Given the description of an element on the screen output the (x, y) to click on. 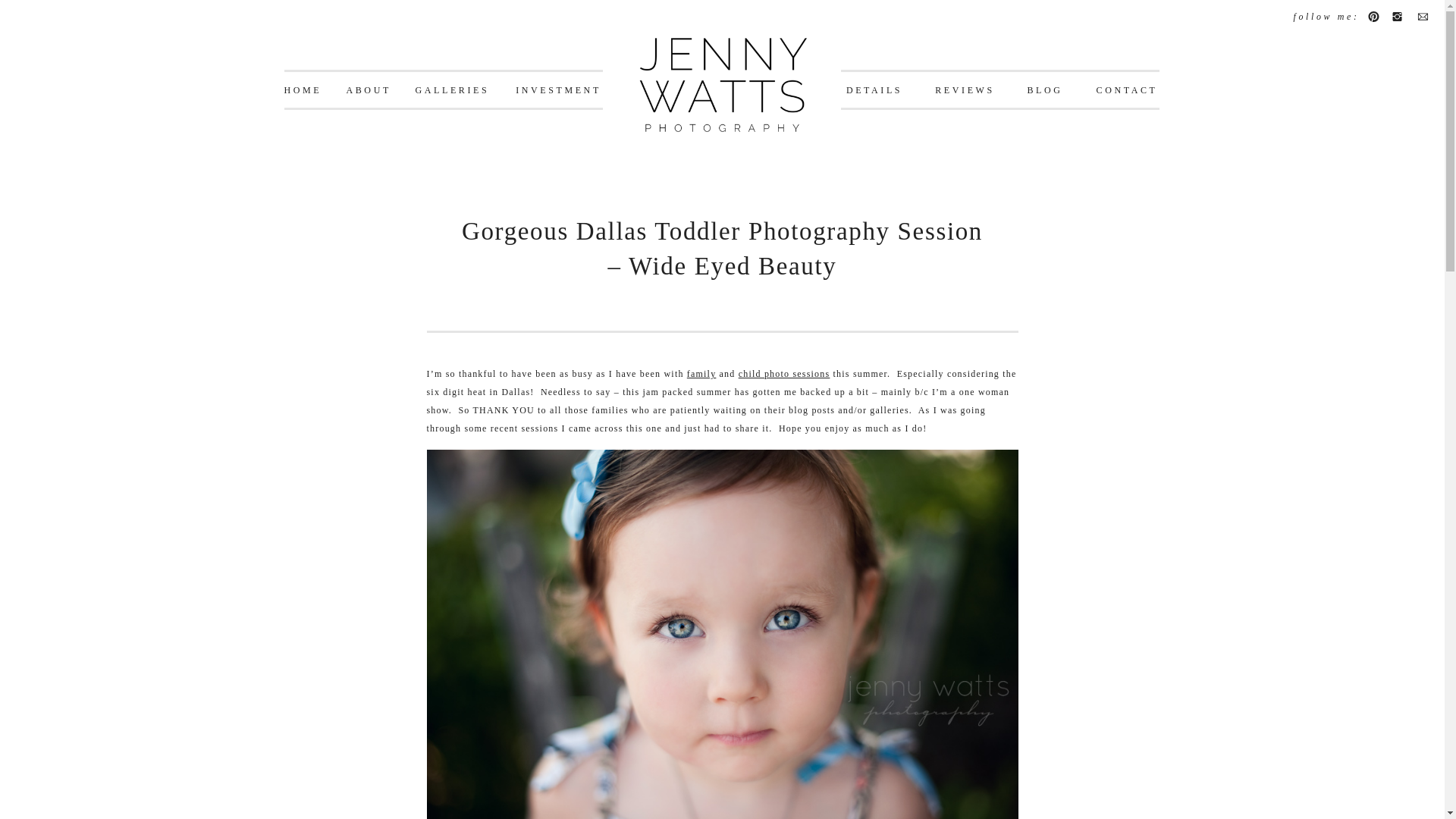
CONTACT (1126, 90)
family (701, 373)
INVESTMENT (557, 90)
BLOG (1045, 90)
GALLERIES (451, 90)
child photo sessions (783, 373)
HOME (301, 90)
REVIEWS (964, 90)
DETAILS (873, 90)
